Given the description of an element on the screen output the (x, y) to click on. 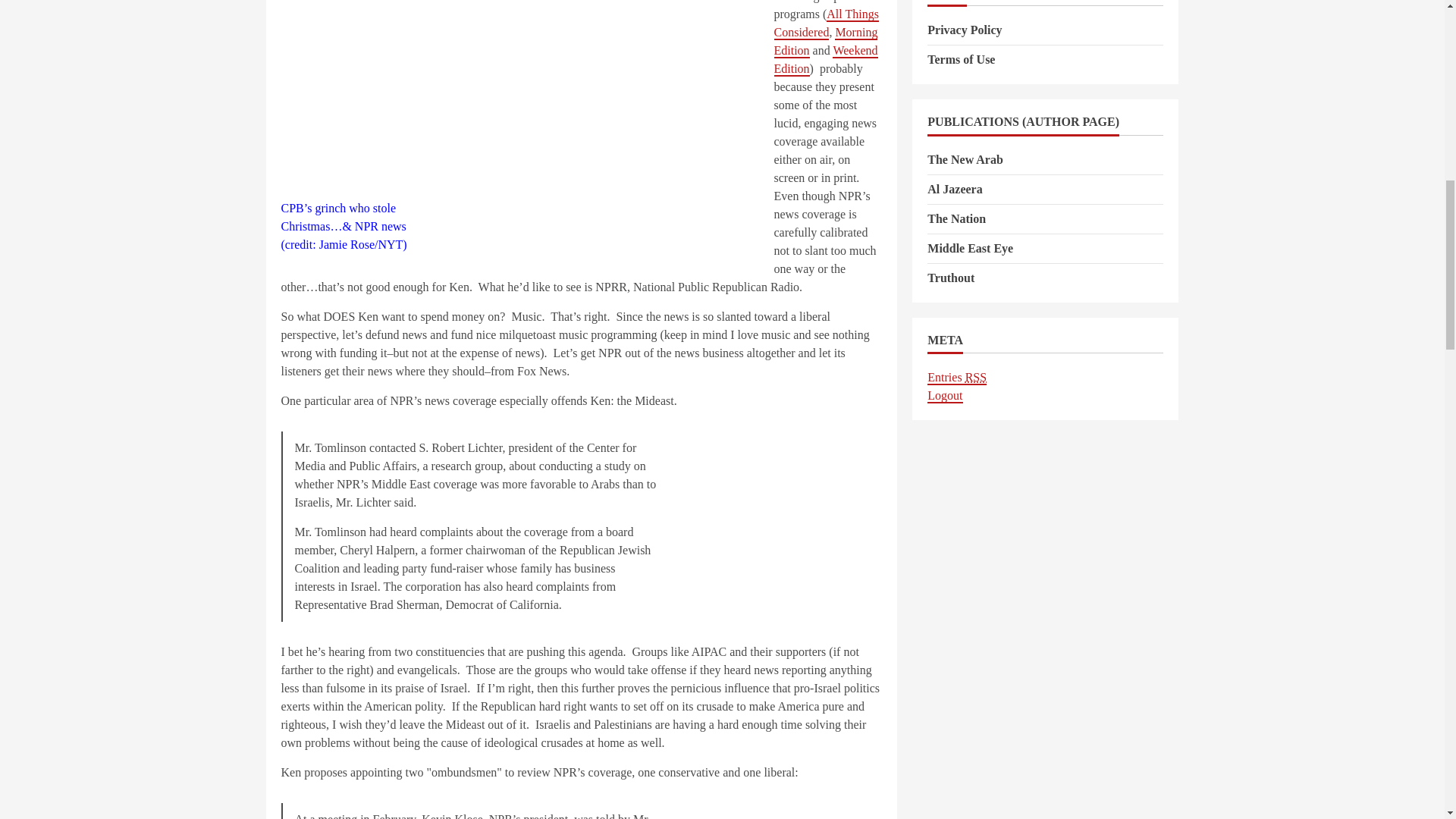
Weekend Edition (825, 60)
Morning Edition (825, 41)
All Things Considered (825, 23)
Ken Tomlinson (523, 99)
Really Simple Syndication (976, 377)
